Given the description of an element on the screen output the (x, y) to click on. 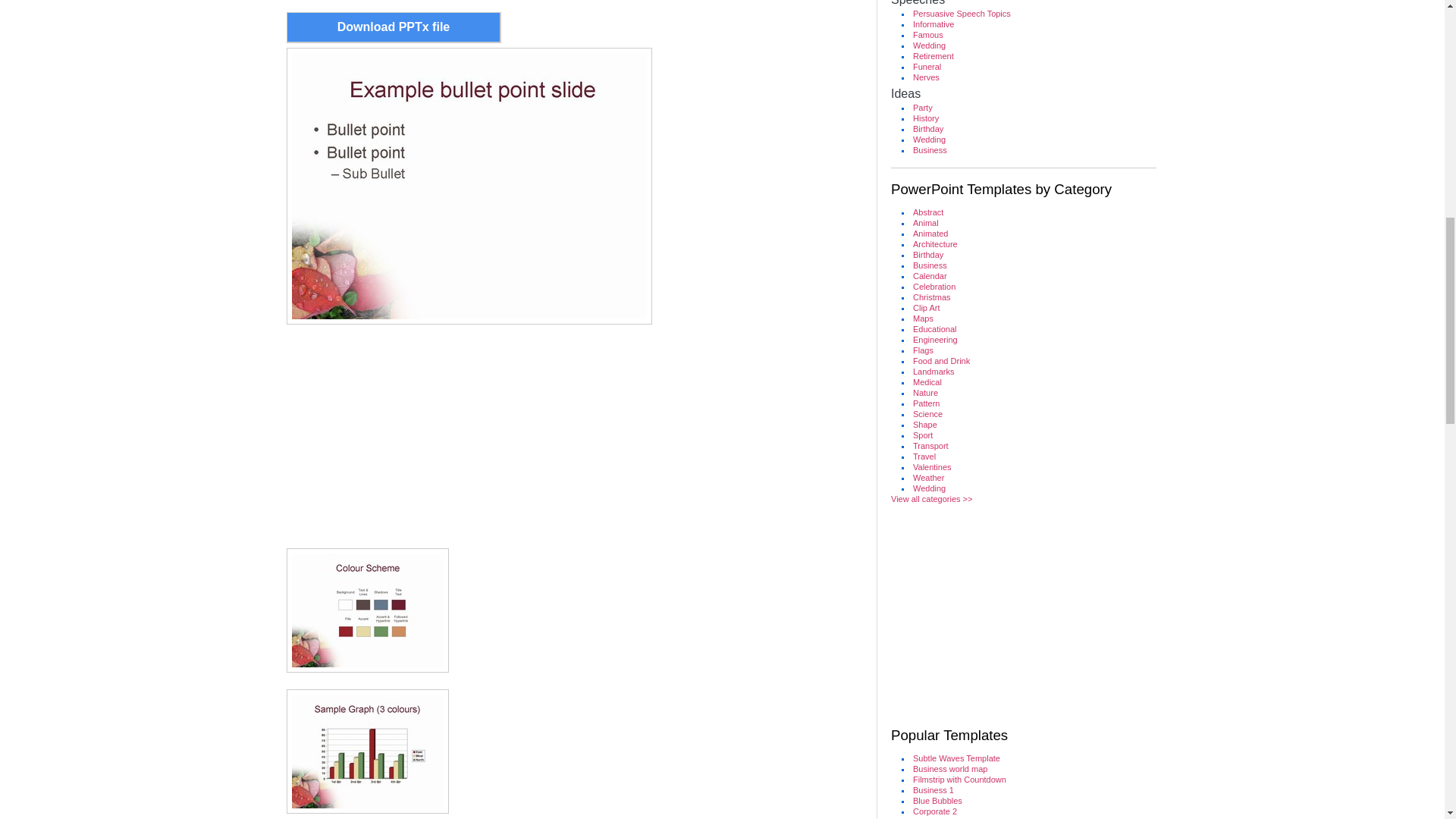
Advertisement (574, 433)
Advertisement (1016, 616)
